Given the description of an element on the screen output the (x, y) to click on. 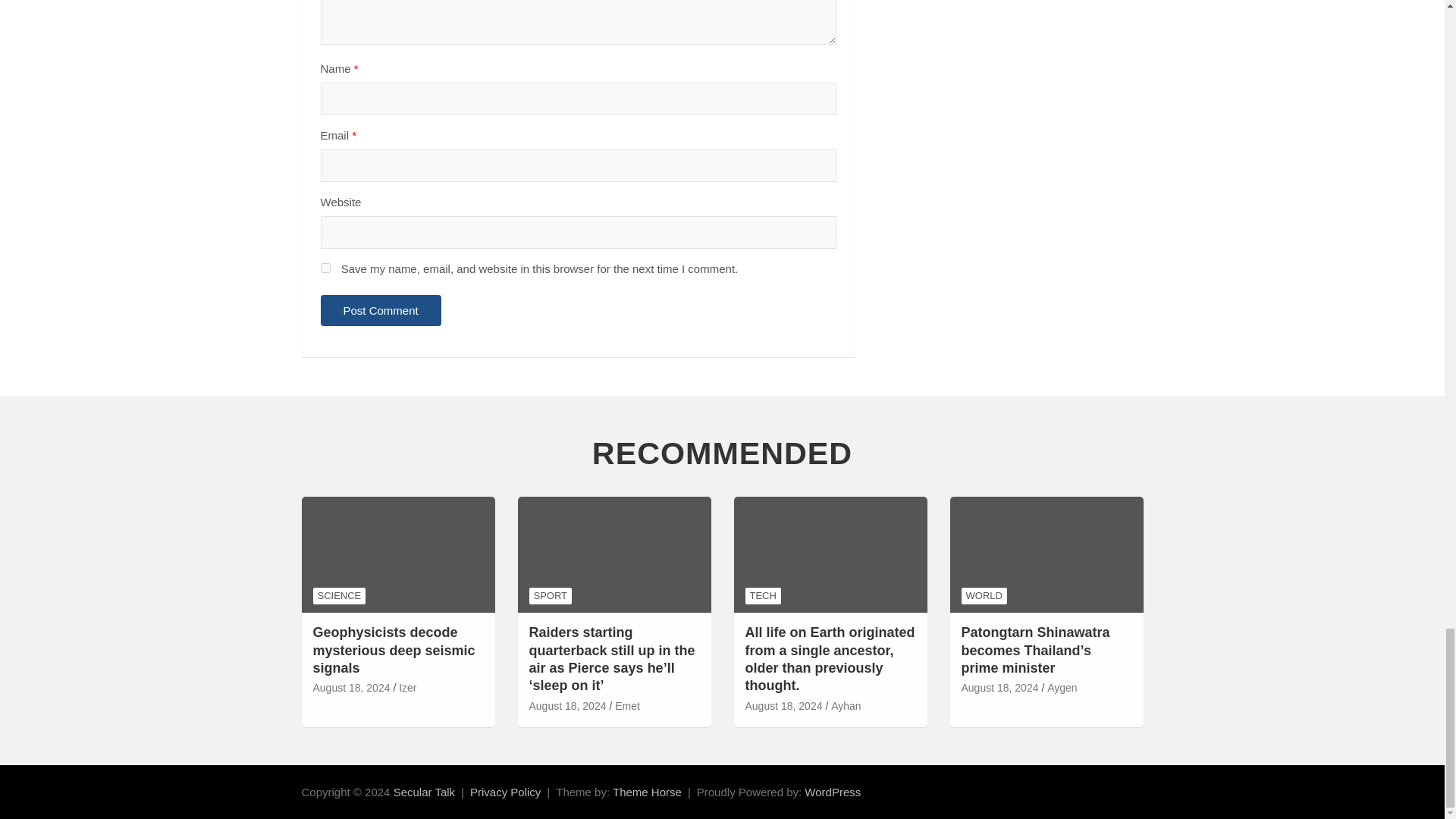
Geophysicists decode mysterious deep seismic signals (351, 688)
Secular Talk (423, 791)
August 18, 2024 (351, 688)
WordPress (832, 791)
Post Comment (380, 309)
yes (325, 266)
Post Comment (380, 309)
SCIENCE (339, 596)
Geophysicists decode mysterious deep seismic signals (393, 649)
